Given the description of an element on the screen output the (x, y) to click on. 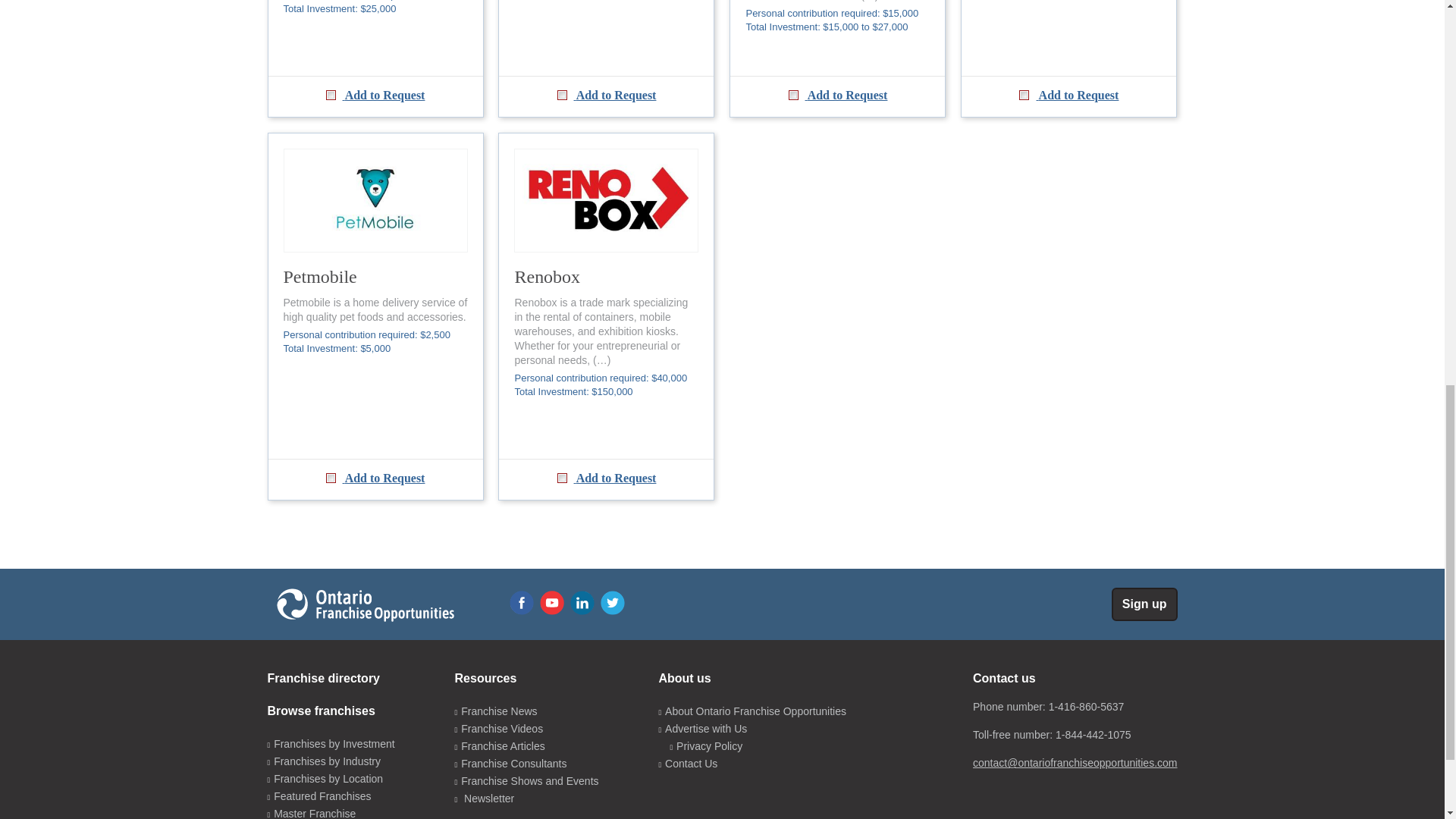
Add to Request (375, 96)
Add to Request (606, 96)
